Given the description of an element on the screen output the (x, y) to click on. 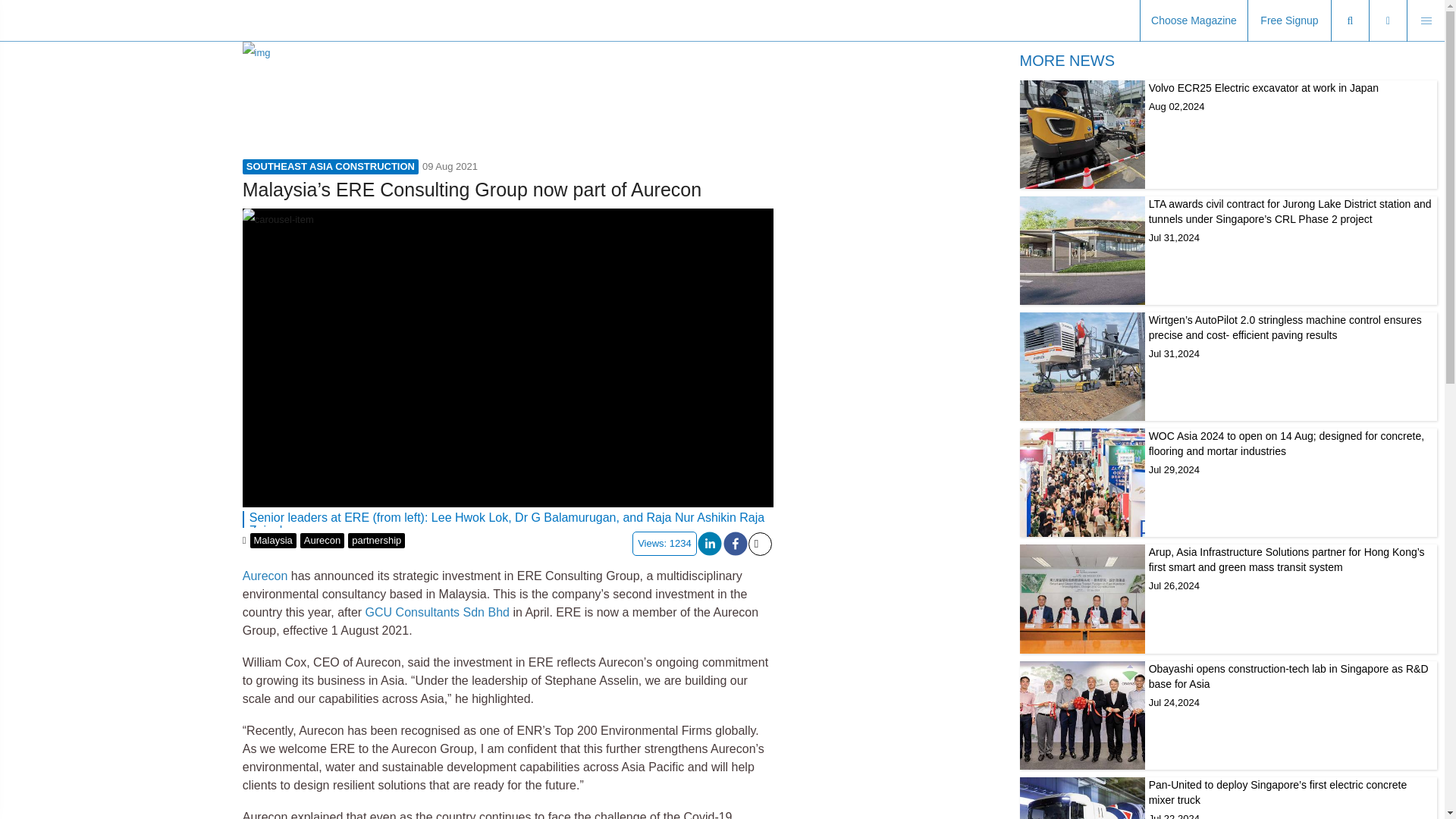
Free Signup (1288, 20)
Malaysia (1228, 134)
Aurecon (273, 540)
partnership (265, 575)
Choose Magazine (375, 540)
GCU Consultants Sdn Bhd (1193, 20)
Aurecon (437, 612)
SOUTHEAST ASIA CONSTRUCTION (321, 540)
